Given the description of an element on the screen output the (x, y) to click on. 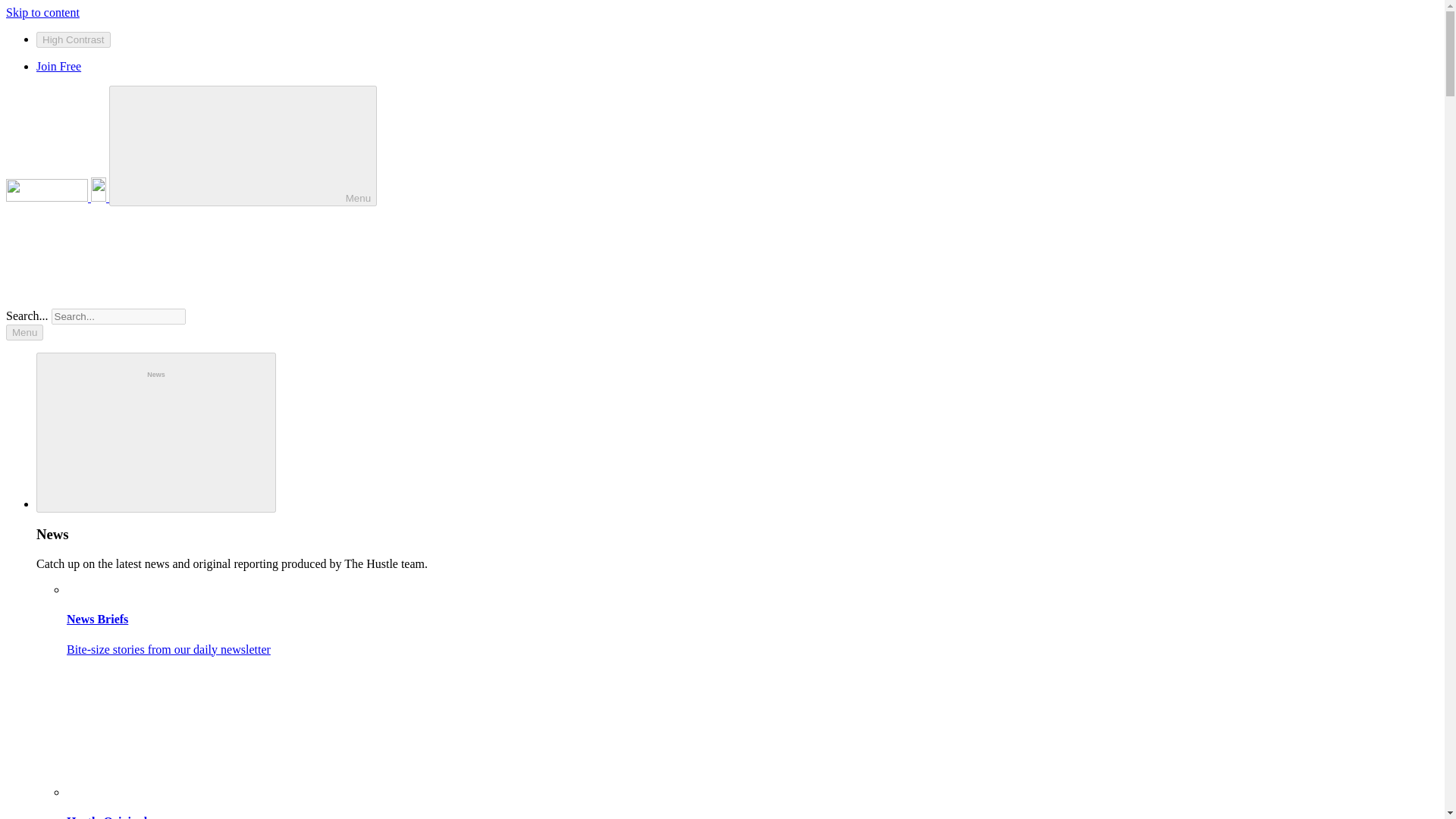
News (156, 432)
Menu (24, 332)
Menu (243, 145)
High Contrast (73, 39)
Join Free (58, 65)
Skip to content (42, 11)
